Given the description of an element on the screen output the (x, y) to click on. 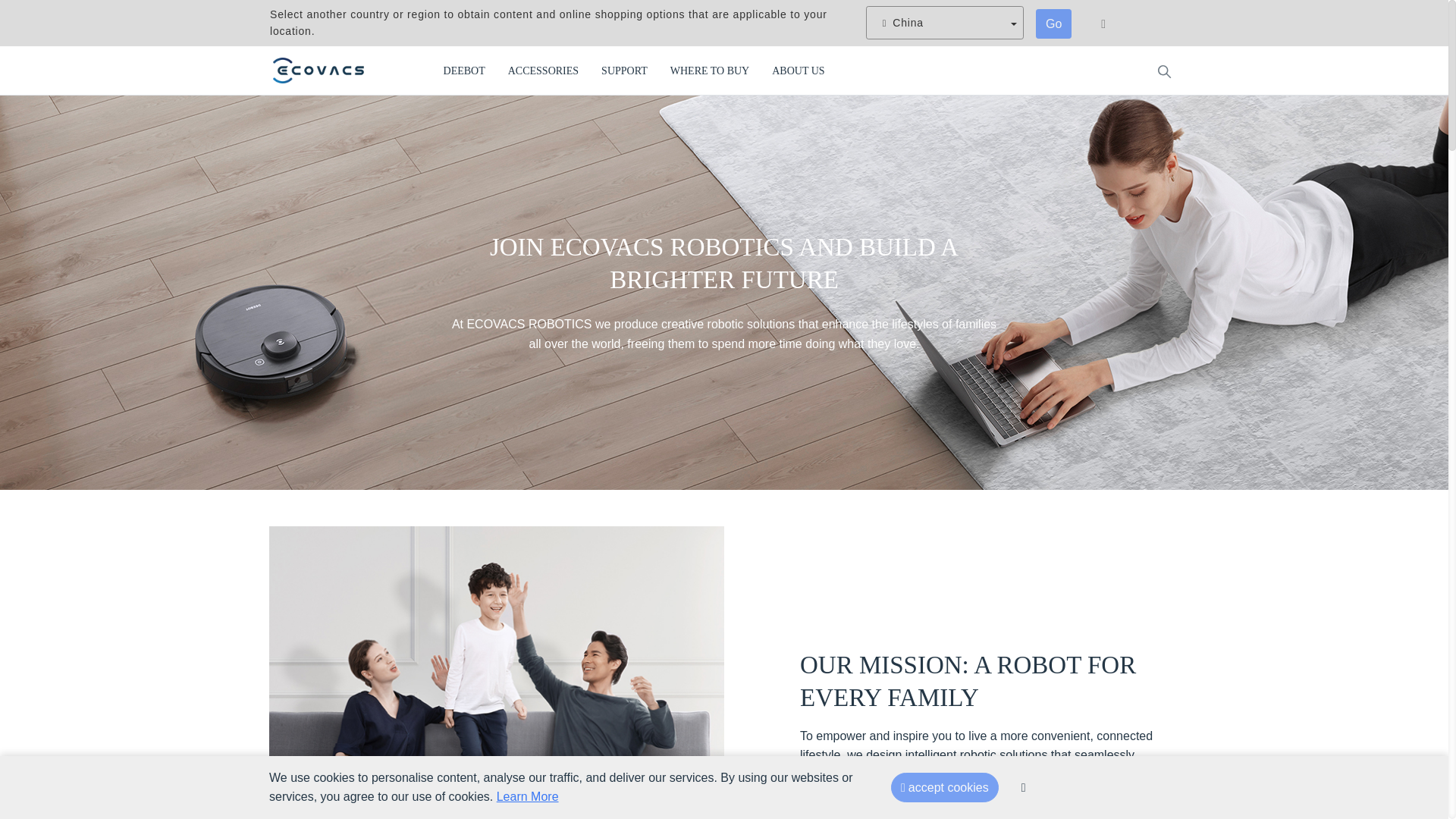
ABOUT US (797, 70)
ACCESSORIES (543, 70)
WHERE TO BUY (709, 70)
Go (1053, 24)
SUPPORT (624, 70)
